Given the description of an element on the screen output the (x, y) to click on. 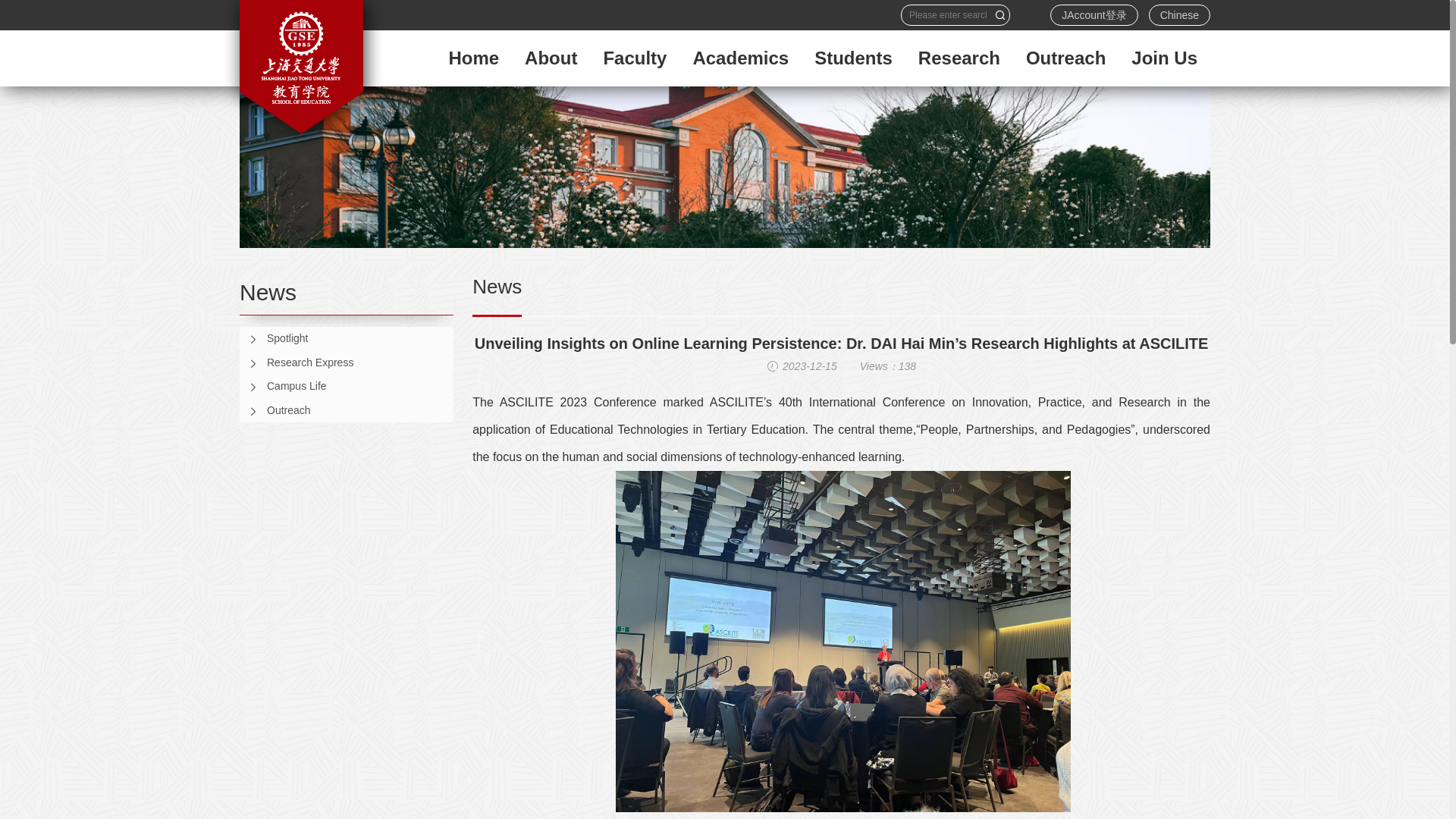
Home (472, 58)
Research (959, 58)
Students (853, 58)
Academics (740, 58)
About (550, 58)
Chinese (1178, 14)
Faculty (633, 58)
